Given the description of an element on the screen output the (x, y) to click on. 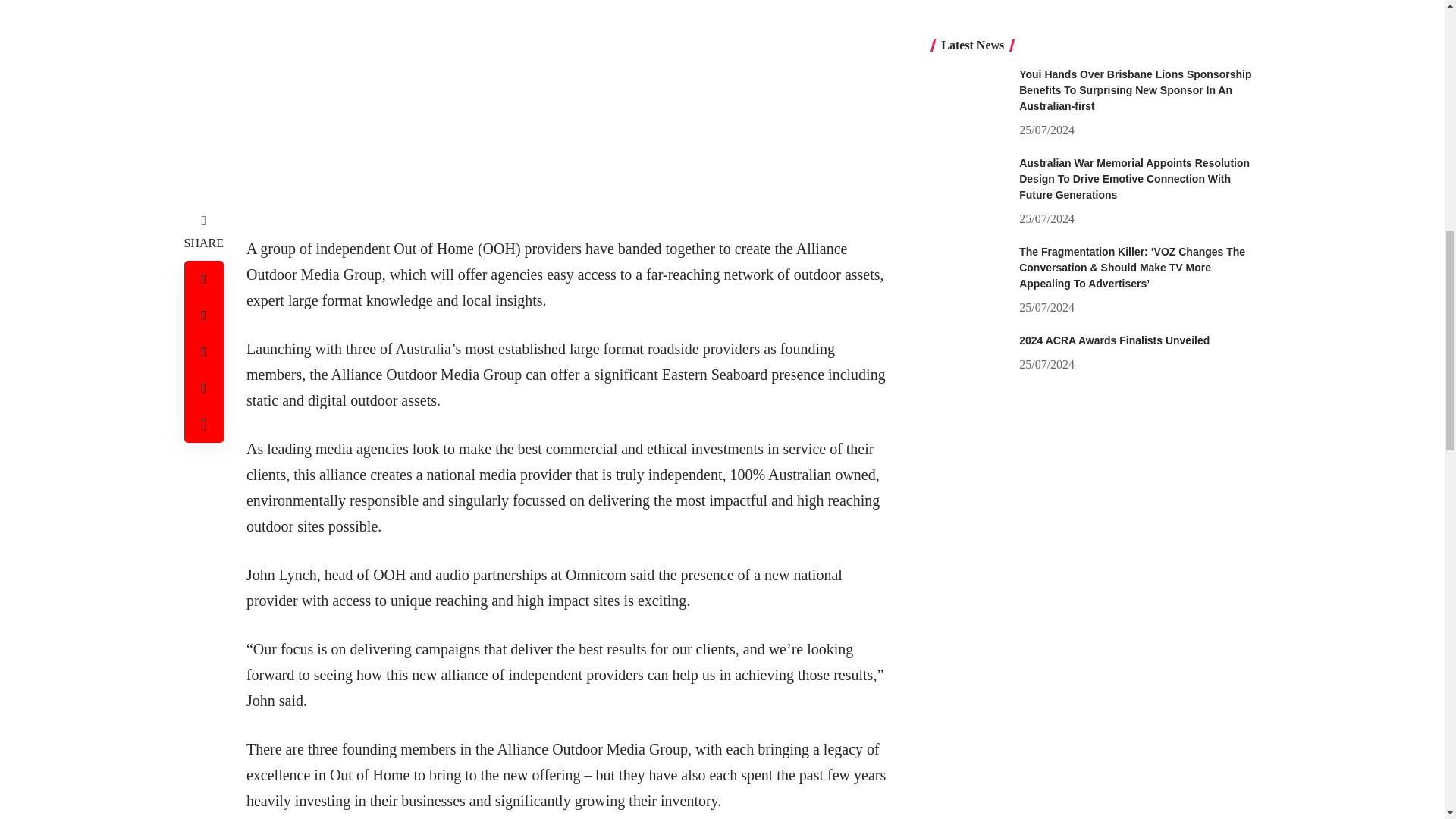
2024 ACRA Awards Finalists Unveiled (969, 63)
